Given the description of an element on the screen output the (x, y) to click on. 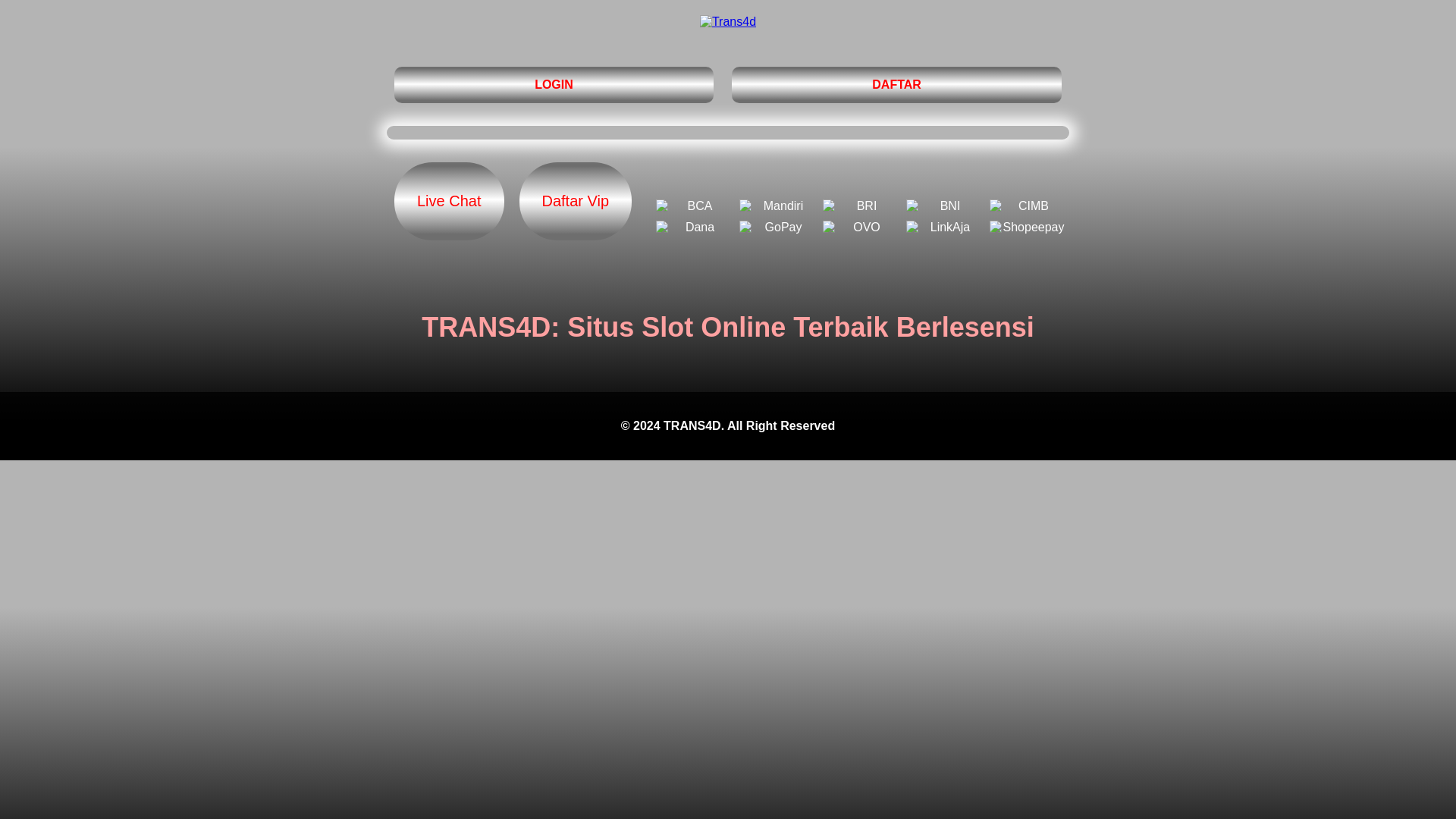
Live Chat (448, 201)
LOGIN (553, 84)
DAFTAR (896, 84)
Daftar Vip (574, 201)
